Given the description of an element on the screen output the (x, y) to click on. 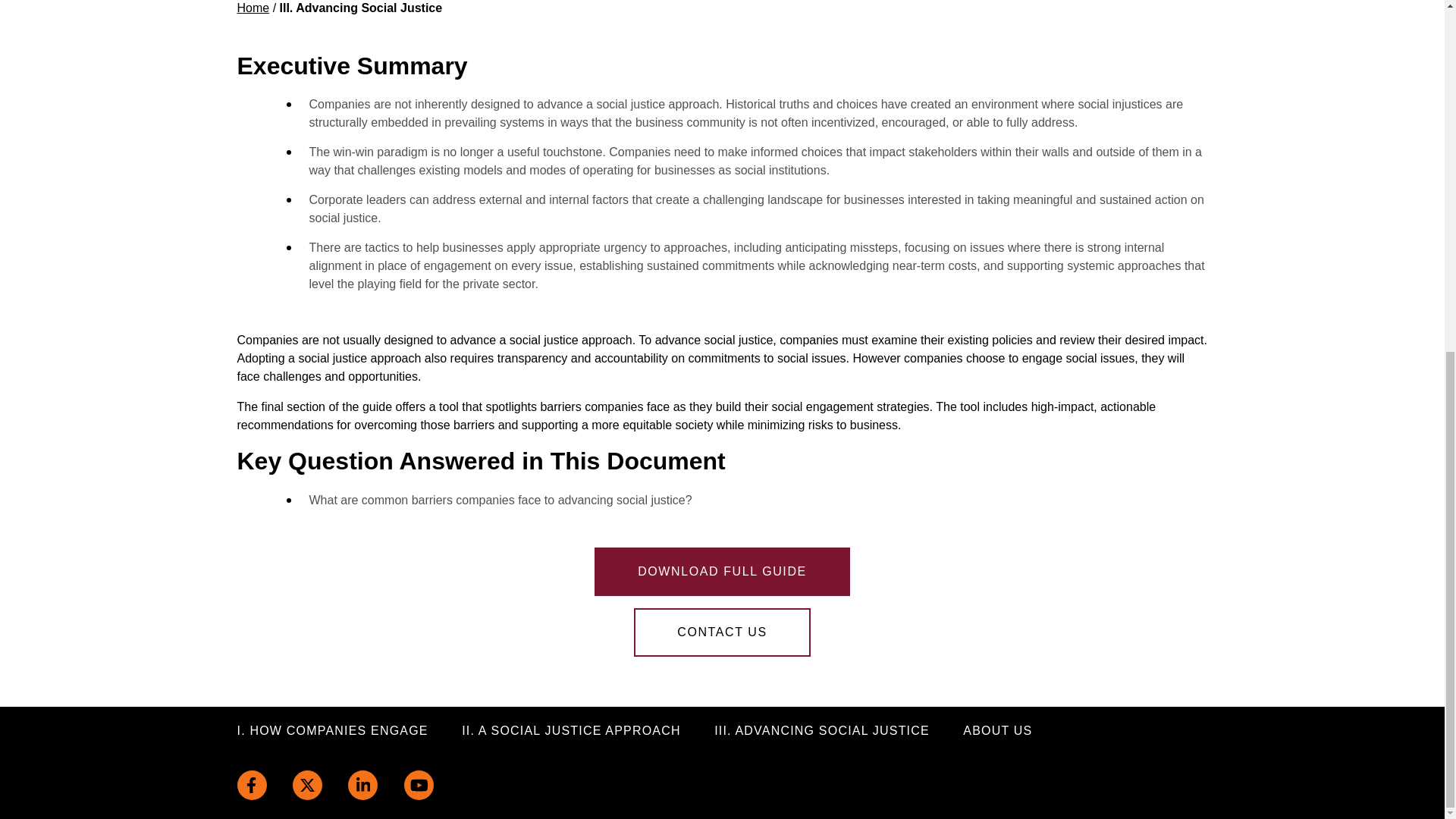
DOWNLOAD FULL GUIDE (722, 571)
Home (252, 7)
ABOUT US (997, 730)
III. ADVANCING SOCIAL JUSTICE (822, 730)
CONTACT US (721, 632)
I. HOW COMPANIES ENGAGE (331, 730)
II. A SOCIAL JUSTICE APPROACH (571, 730)
